Given the description of an element on the screen output the (x, y) to click on. 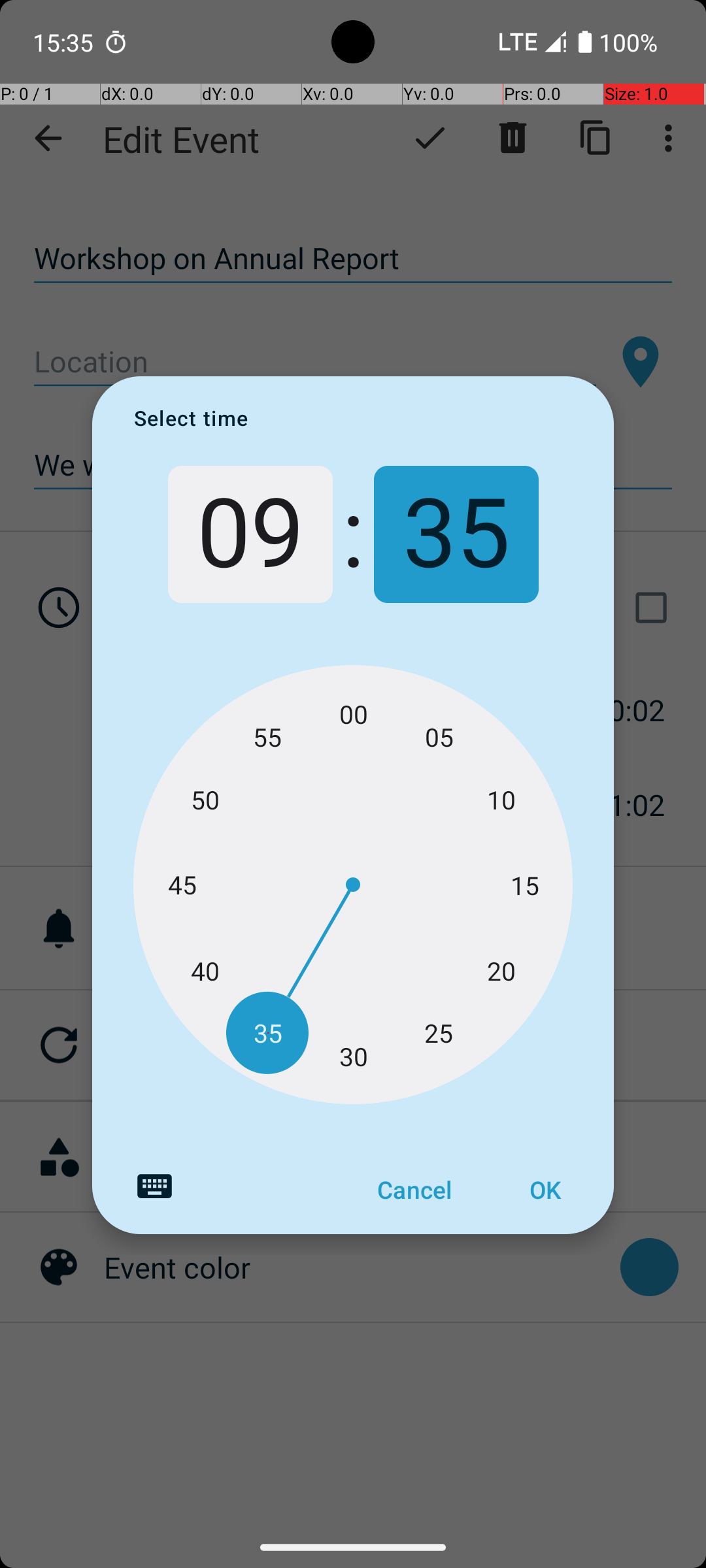
09 Element type: android.view.View (250, 534)
